Given the description of an element on the screen output the (x, y) to click on. 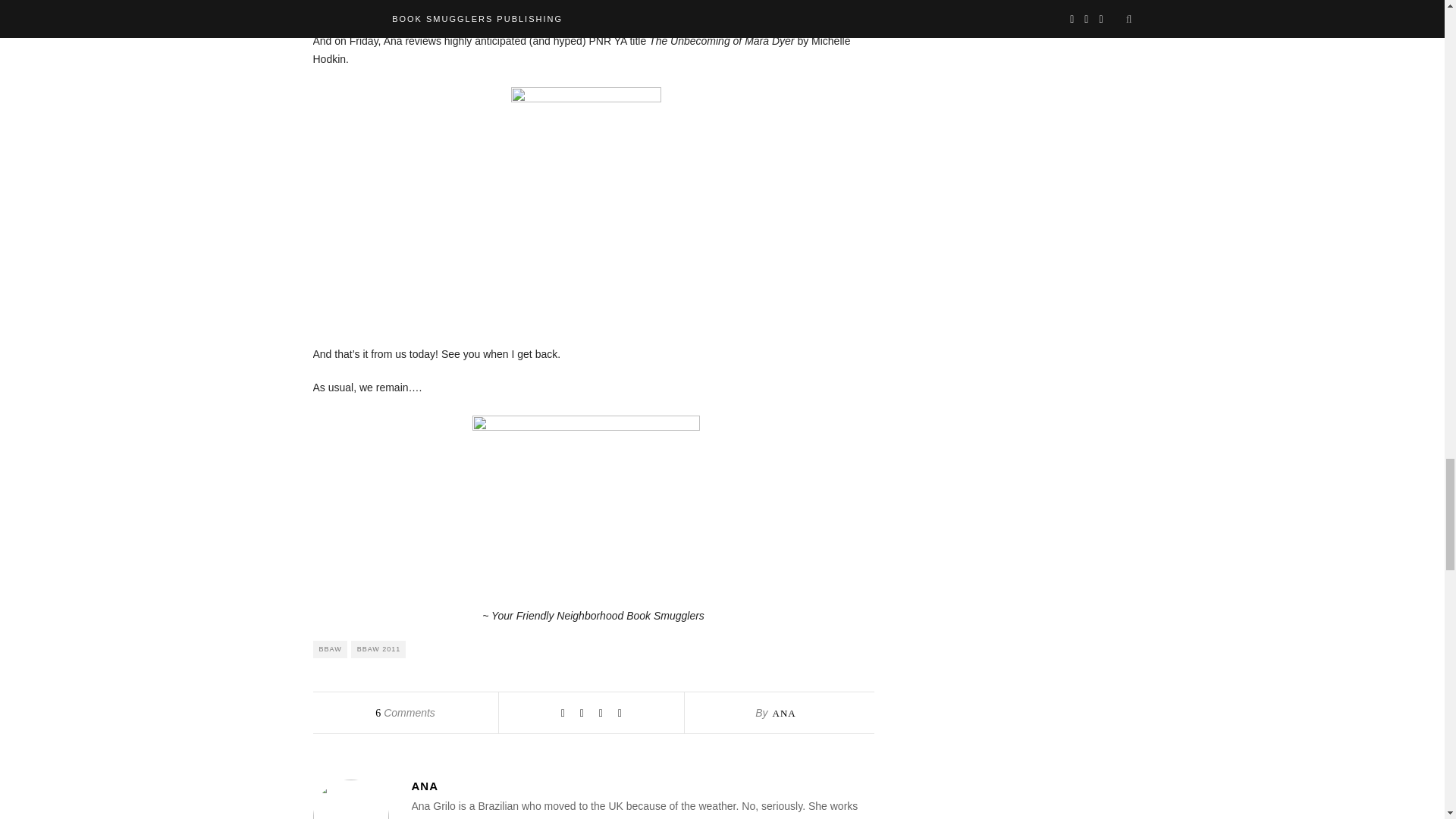
6 Comments (405, 712)
ANA (641, 785)
Time's new Roman (584, 497)
BBAW 2011 (378, 649)
ANA (782, 713)
BBAW (329, 649)
Posts by Ana (641, 785)
Posts by Ana (782, 713)
